Given the description of an element on the screen output the (x, y) to click on. 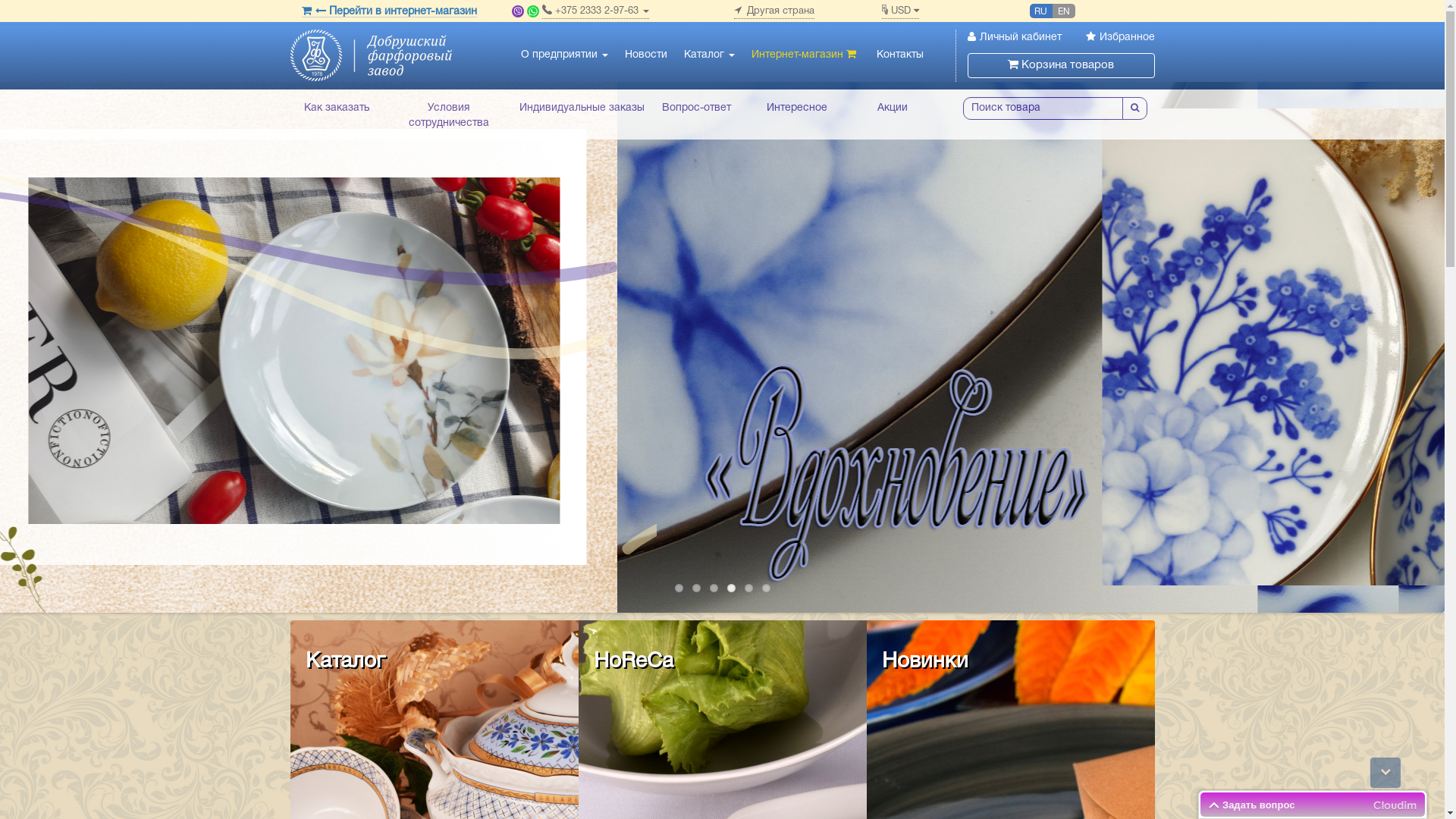
RU Element type: text (1040, 10)
viber Element type: hover (517, 11)
EN Element type: text (1063, 10)
USD Element type: text (899, 11)
+375 2333 2-97-63 Element type: text (595, 11)
whatsapp Element type: hover (533, 11)
